Given the description of an element on the screen output the (x, y) to click on. 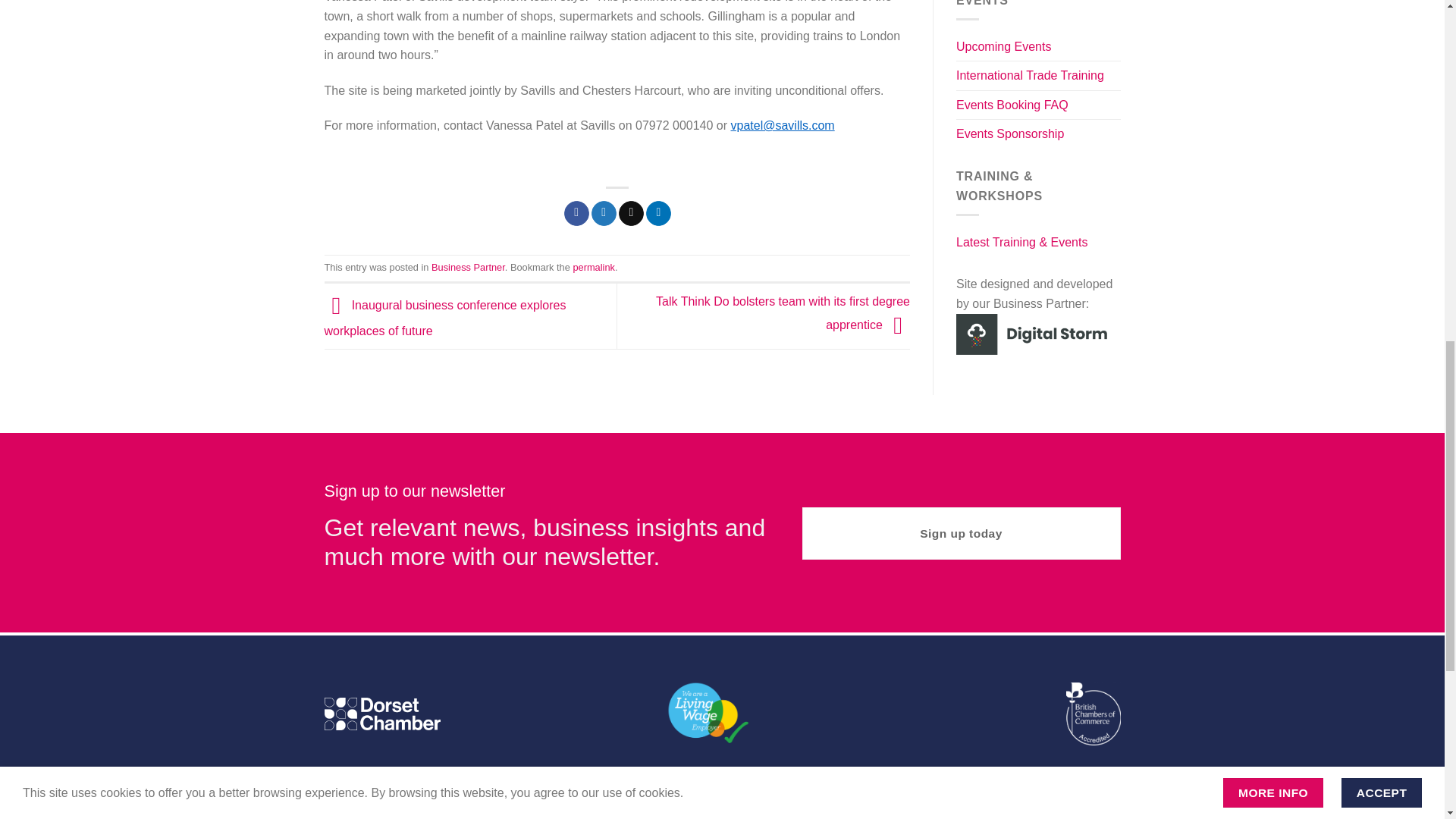
Share on Facebook (576, 213)
Share on LinkedIn (658, 213)
Share on Twitter (603, 213)
Email to a Friend (630, 213)
